Given the description of an element on the screen output the (x, y) to click on. 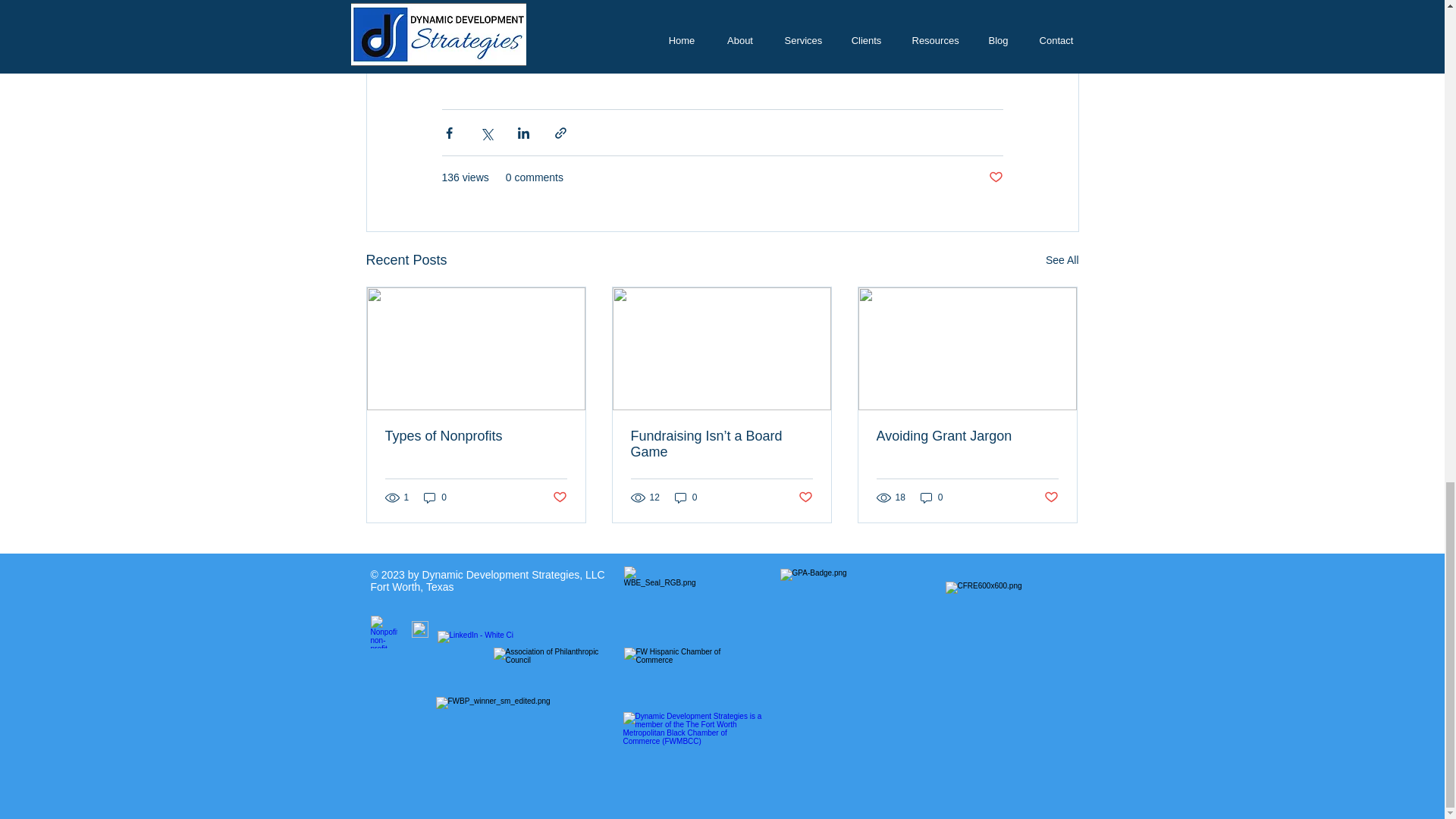
Post not marked as liked (1050, 497)
See All (1061, 260)
0 (685, 496)
0 (435, 496)
Post not marked as liked (995, 177)
Post not marked as liked (804, 497)
Avoiding Grant Jargon (967, 436)
Dynamic Development Strategies is a member of the FWHCC (680, 662)
Post not marked as liked (558, 497)
Dynamic Development Strategies isa meber ofAPC (547, 662)
Types of Nonprofits (476, 436)
0 (931, 496)
